Given the description of an element on the screen output the (x, y) to click on. 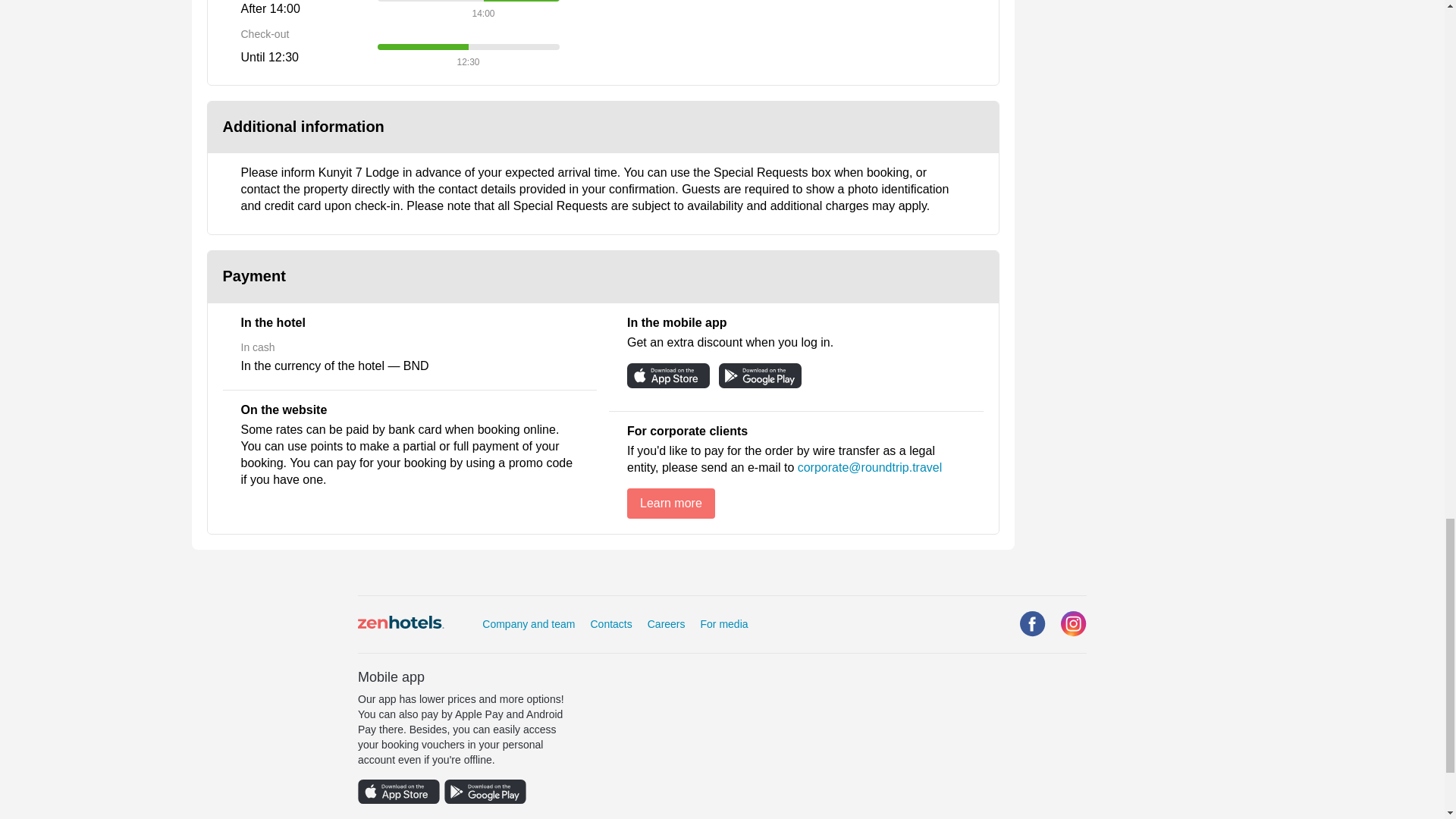
Learn more (670, 503)
Company and team (528, 623)
For media (724, 623)
Contacts (610, 623)
Careers (666, 623)
